Given the description of an element on the screen output the (x, y) to click on. 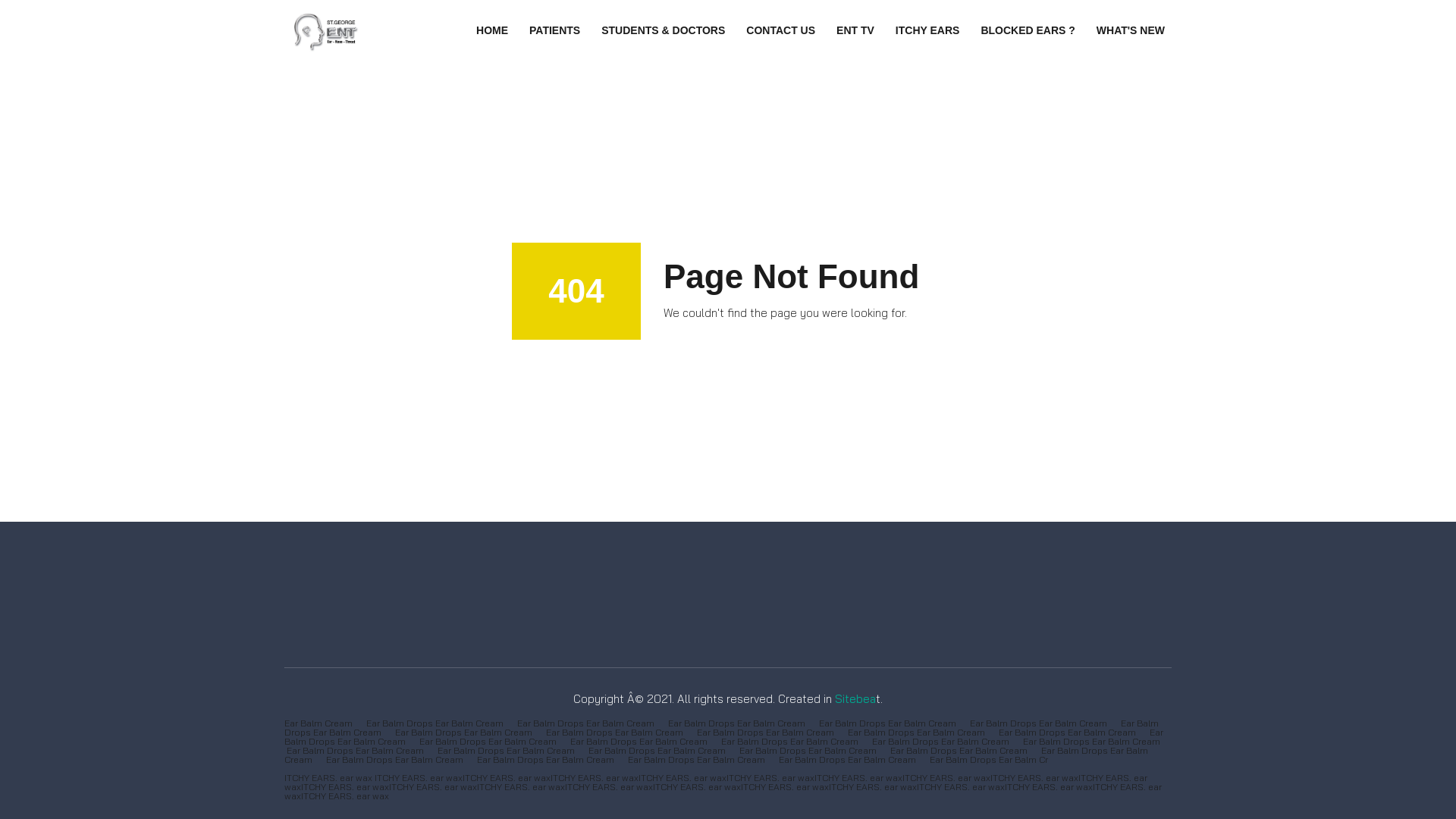
PATIENTS Element type: text (554, 29)
WHAT'S NEW Element type: text (1130, 29)
HOME Element type: text (491, 29)
ITCHY EARS Element type: text (927, 29)
ENT TV Element type: text (855, 29)
Sitebea Element type: text (853, 698)
CONTACT US Element type: text (780, 29)
BLOCKED EARS ? Element type: text (1027, 29)
STUDENTS & DOCTORS Element type: text (662, 29)
